Given the description of an element on the screen output the (x, y) to click on. 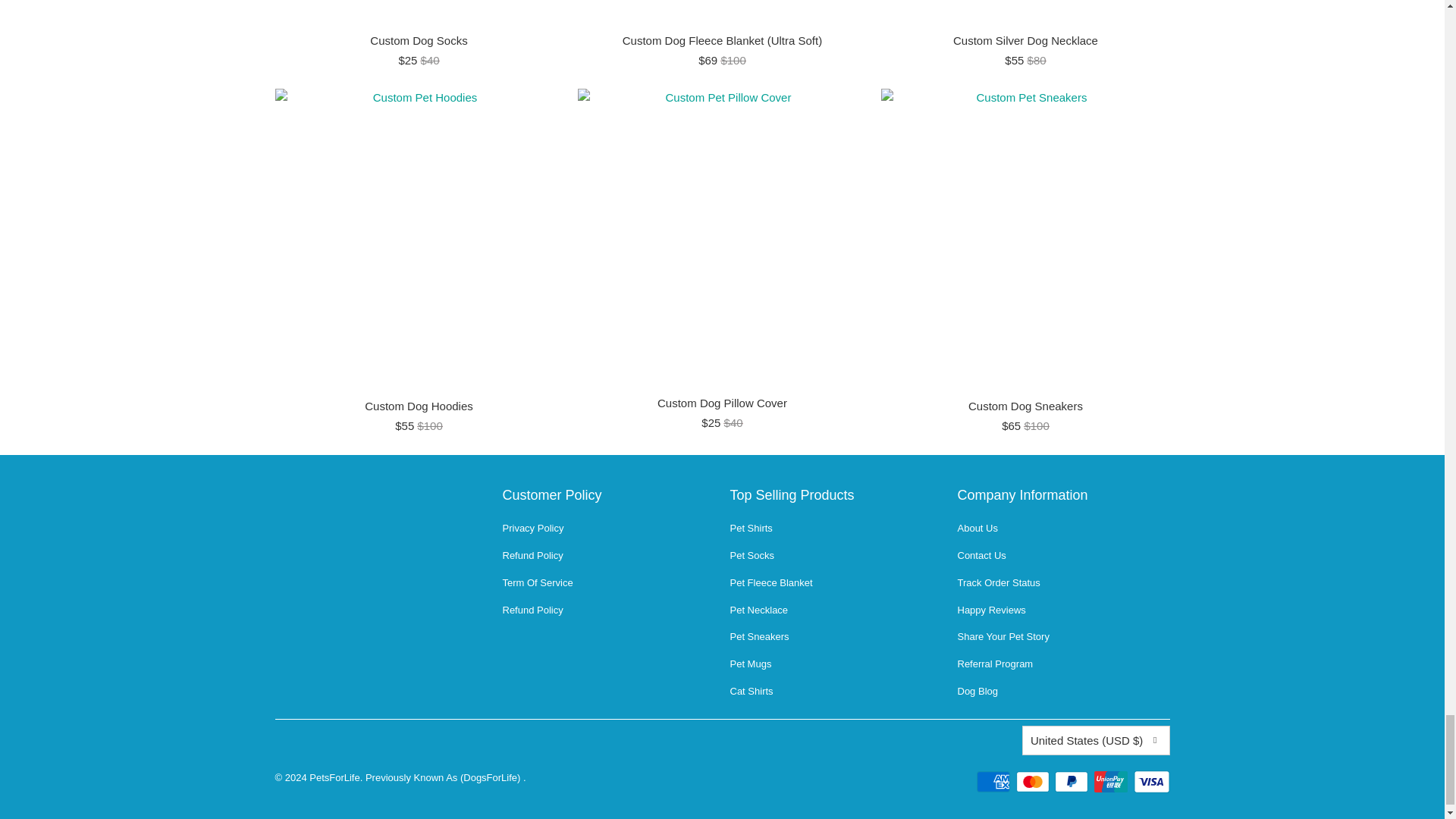
PayPal (1072, 781)
American Express (994, 781)
Visa (1150, 781)
Mastercard (1034, 781)
Union Pay (1112, 781)
